Given the description of an element on the screen output the (x, y) to click on. 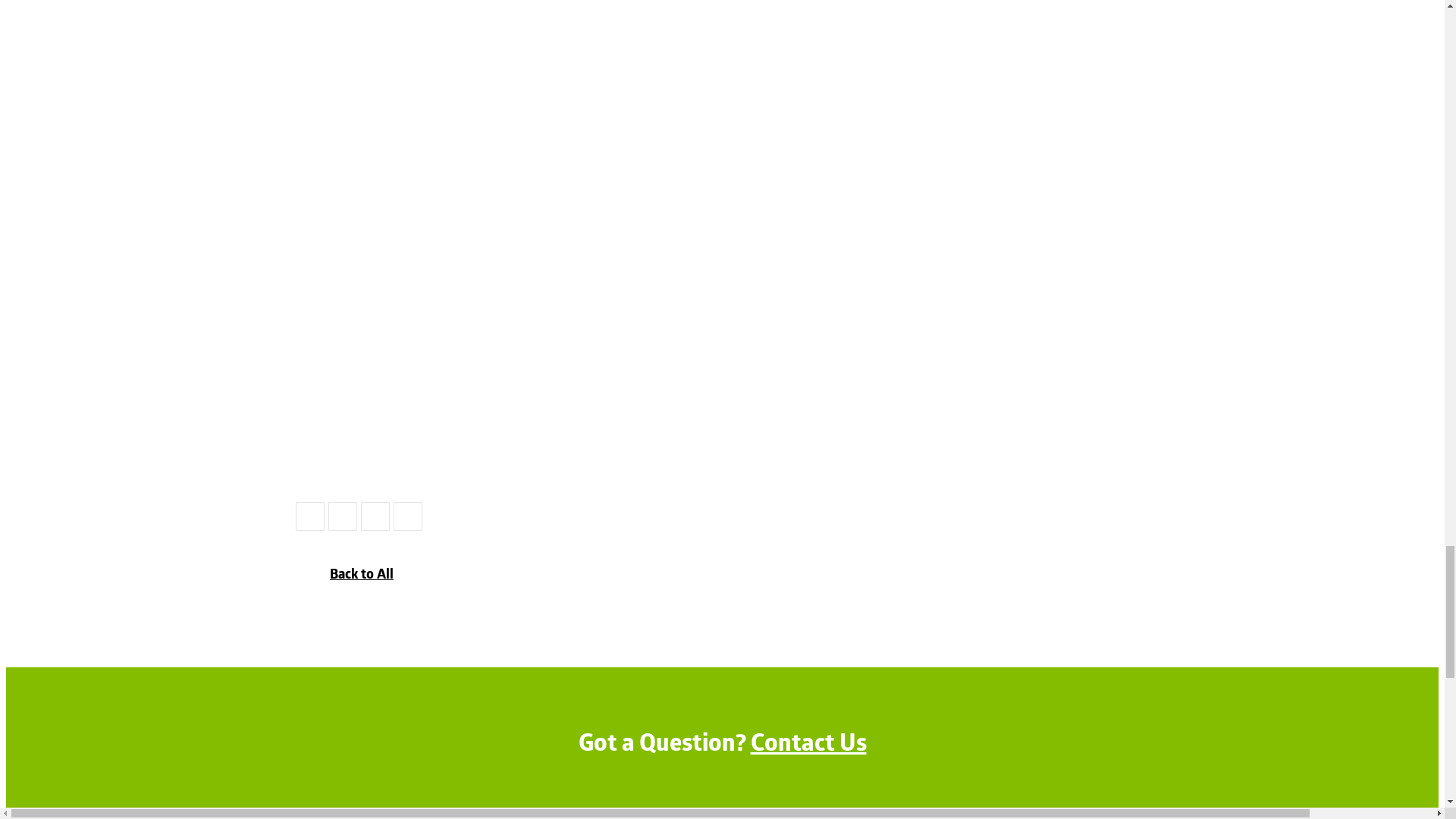
Share on LinkedIn (341, 516)
Share on Twitter (375, 516)
Share on Facebook (309, 516)
Share by Email (407, 516)
